Given the description of an element on the screen output the (x, y) to click on. 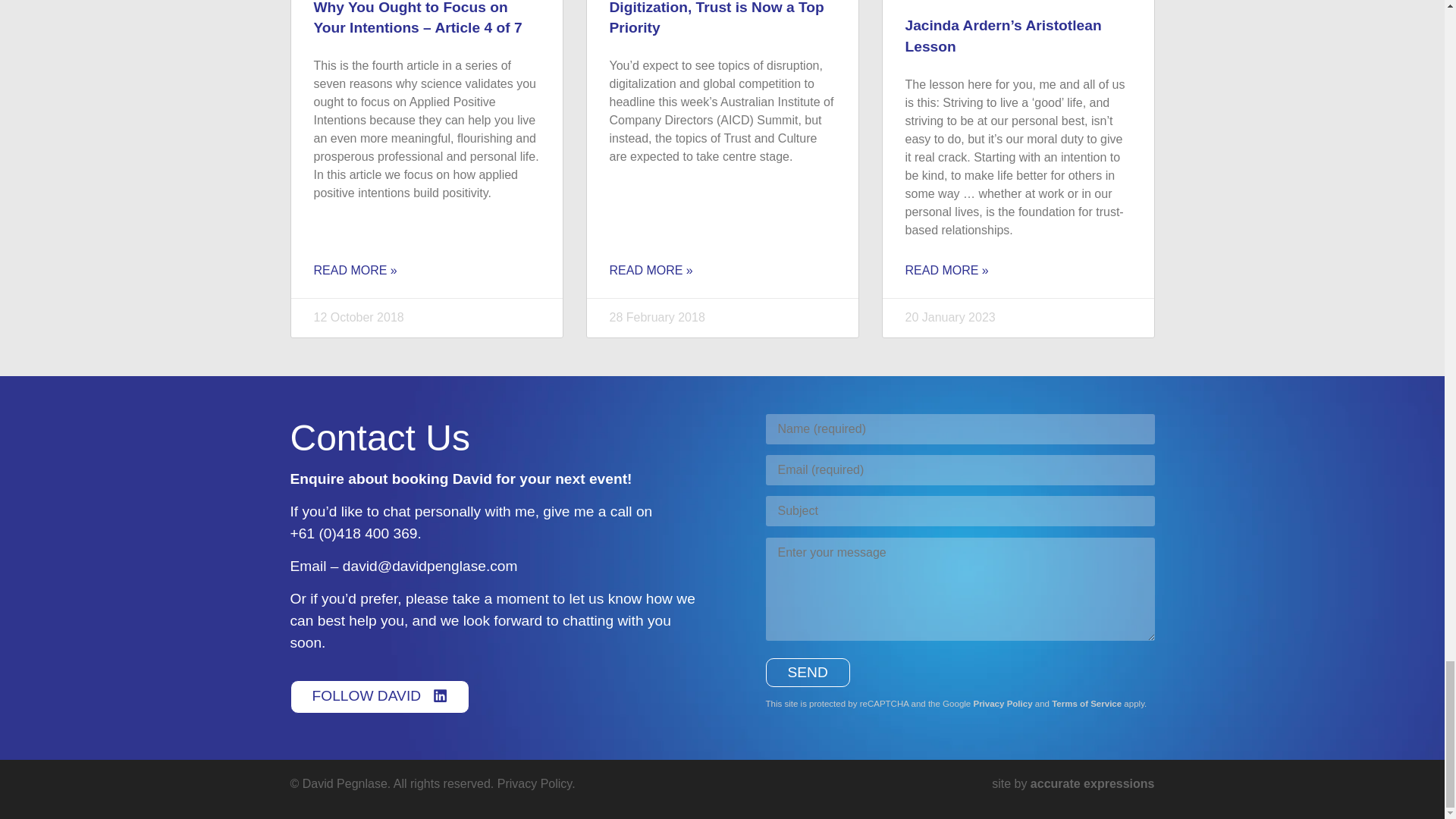
Send (807, 672)
